Given the description of an element on the screen output the (x, y) to click on. 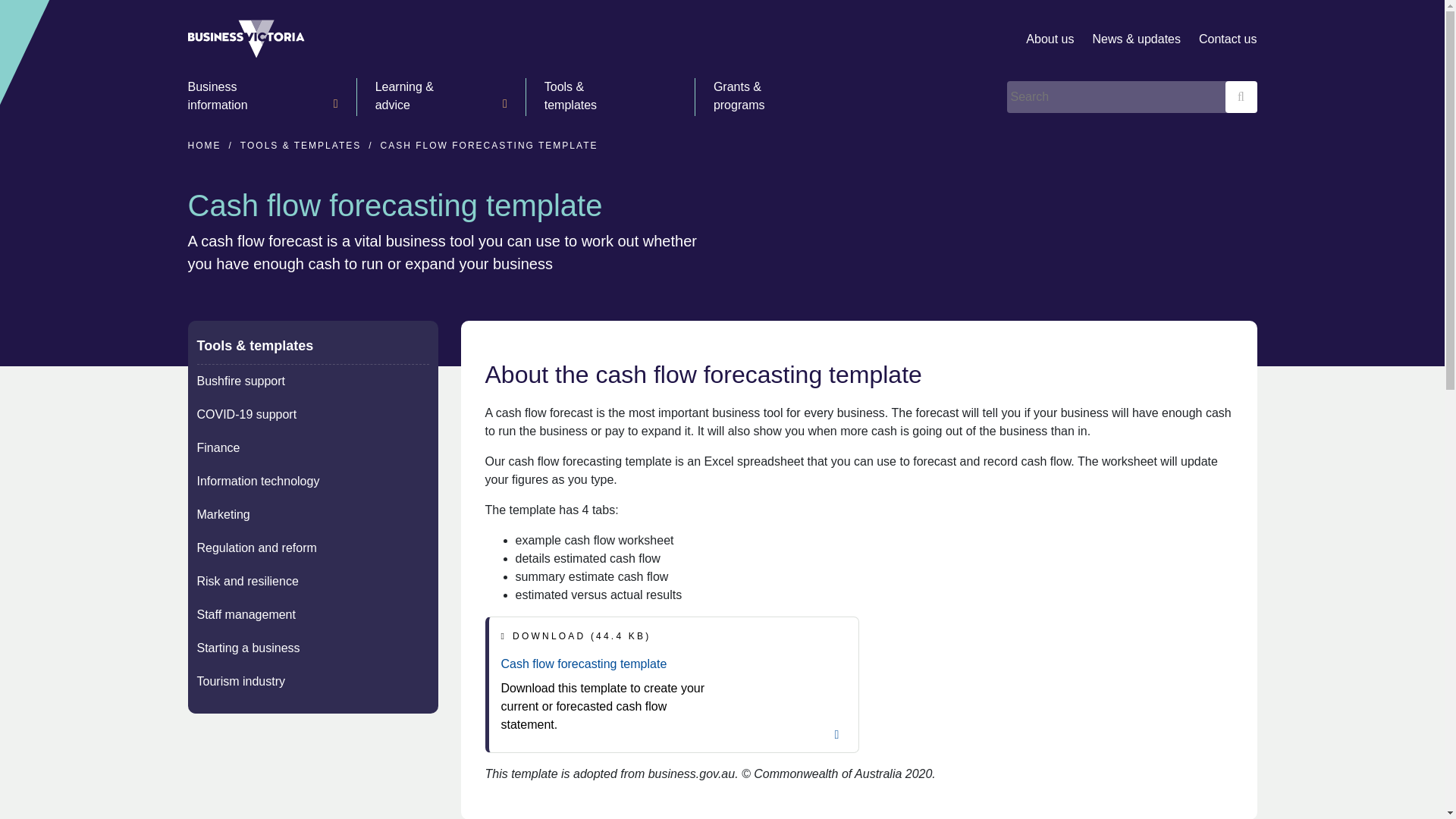
About us (1050, 38)
Contact us (1227, 38)
Business information (262, 96)
